Given the description of an element on the screen output the (x, y) to click on. 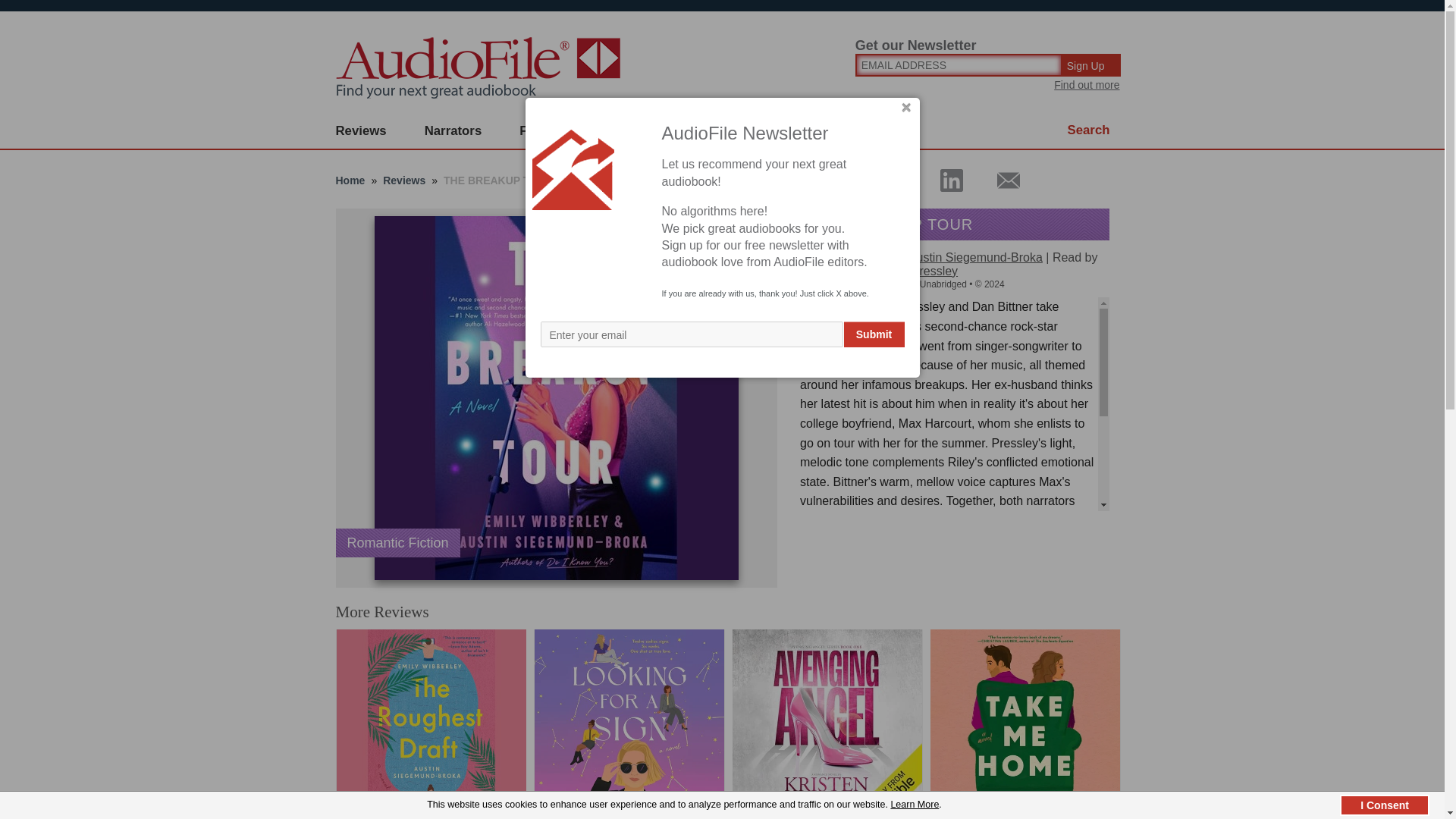
Narrators (453, 131)
Articles (808, 131)
Submit (873, 334)
Features (545, 131)
AudioFileMagazine - Share by Email (999, 180)
Find out more (1086, 84)
Subscribe (640, 131)
Search (1089, 130)
About (727, 131)
Sign Up (1091, 65)
Reviews (360, 131)
